Given the description of an element on the screen output the (x, y) to click on. 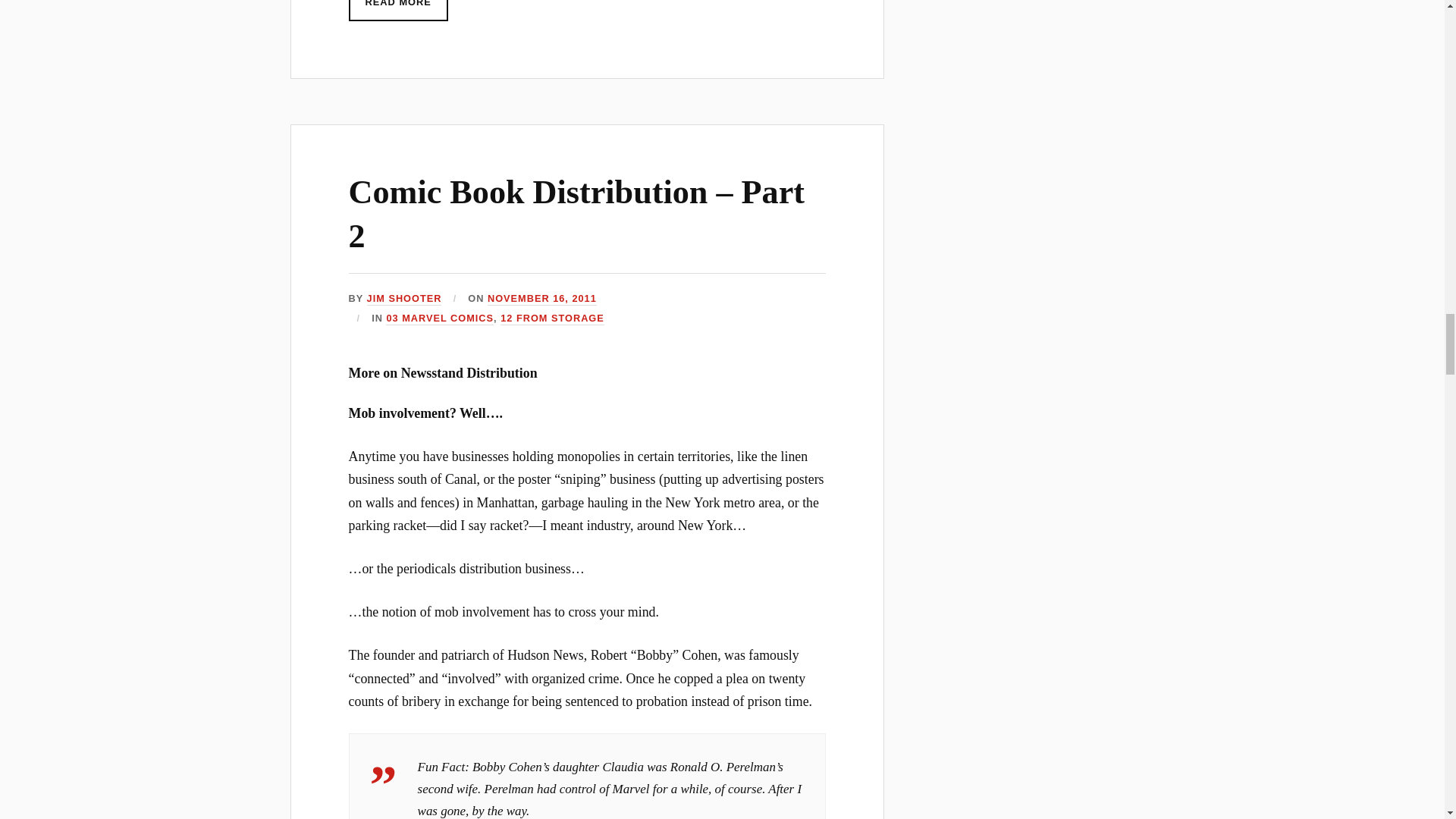
Posts by Jim Shooter (404, 298)
